Given the description of an element on the screen output the (x, y) to click on. 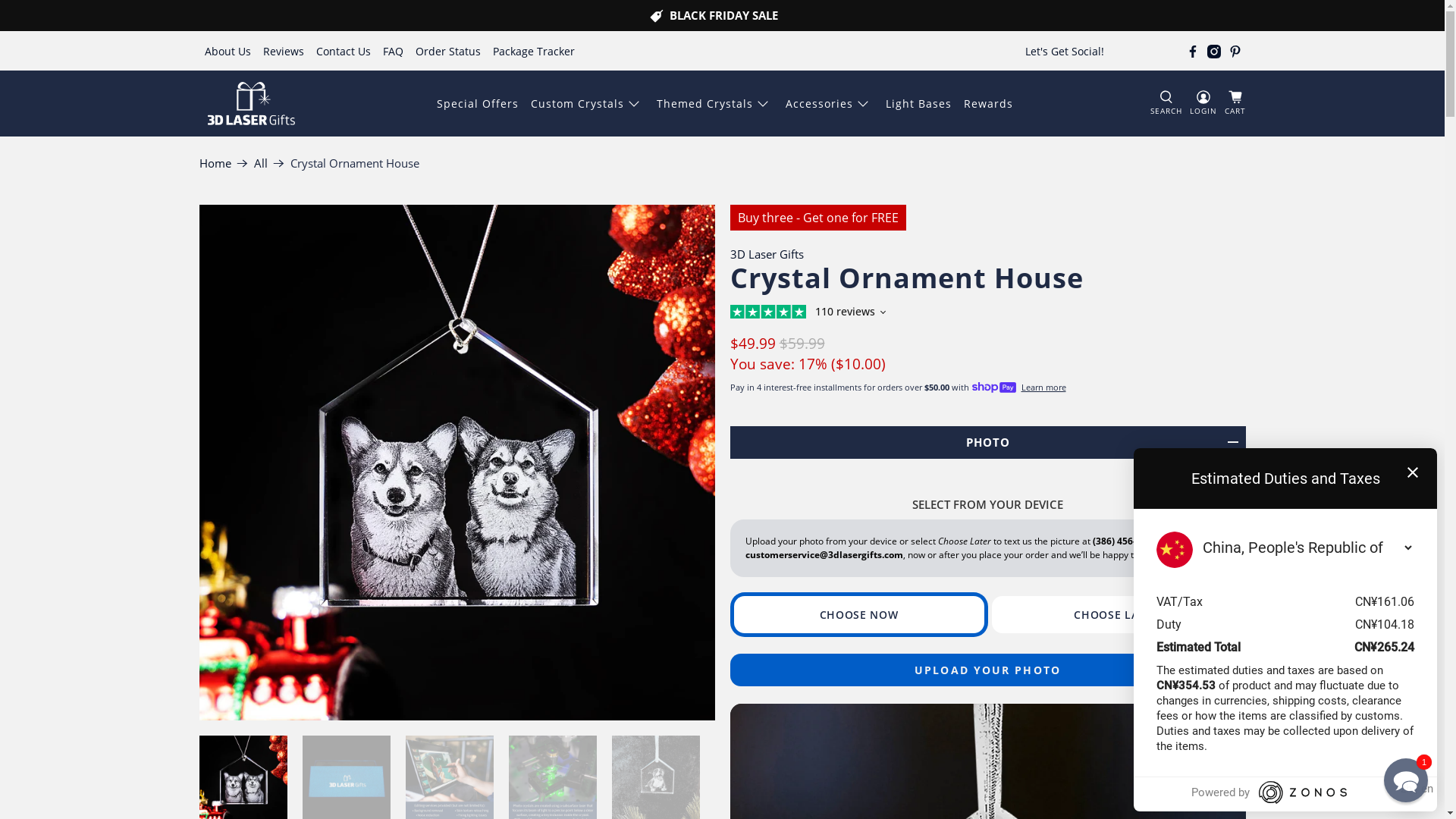
3D Laser Gifts on Pinterest Element type: hover (1235, 51)
Home Element type: text (214, 163)
CART Element type: text (1234, 103)
Reviews Element type: text (283, 50)
Package Tracker Element type: text (533, 50)
Rewards Element type: text (988, 103)
FAQ Element type: text (392, 50)
All Element type: text (259, 163)
LOGIN Element type: text (1203, 103)
Light Bases Element type: text (918, 103)
About Us Element type: text (227, 50)
Themed Crystals Element type: text (714, 103)
Order Status Element type: text (447, 50)
Custom Crystals Element type: text (587, 103)
SEARCH Element type: text (1166, 103)
3D Laser Gifts Element type: text (766, 253)
UPLOAD YOUR PHOTO Element type: text (987, 669)
Open Zonos Hello Element type: hover (1411, 791)
Contact Us Element type: text (343, 50)
3D Laser Gifts on Instagram Element type: hover (1213, 51)
Special Offers Element type: text (477, 103)
Accessories Element type: text (829, 103)
Customer reviews powered by Trustpilot Element type: hover (987, 313)
3D Laser Gifts Element type: hover (250, 103)
3D Laser Gifts on Facebook Element type: hover (1192, 51)
